Given the description of an element on the screen output the (x, y) to click on. 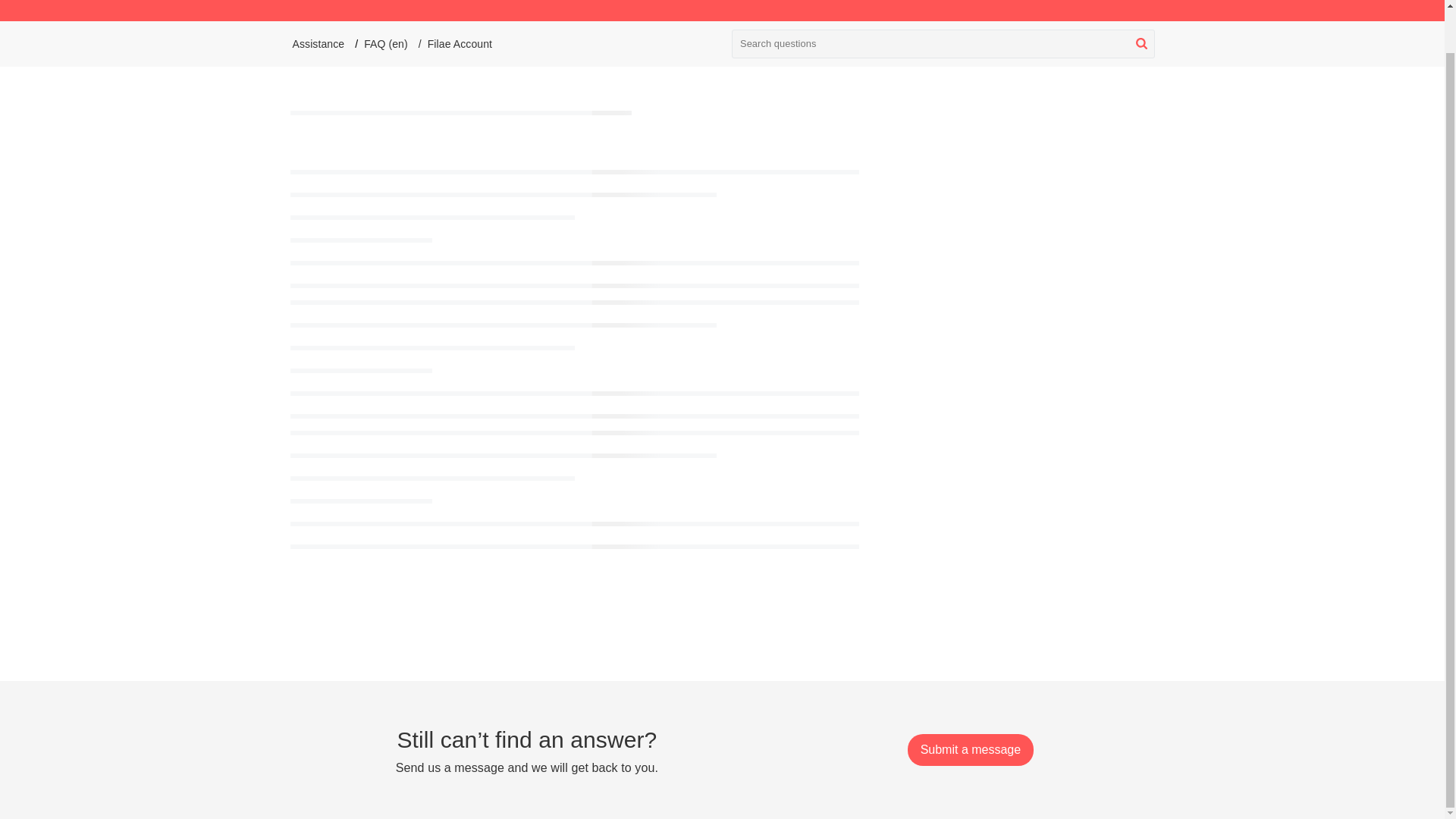
Filae Account (460, 43)
Submit a message (970, 748)
English (1118, 5)
Assistance (690, 10)
Assistance (318, 43)
Submit a message (970, 749)
